Given the description of an element on the screen output the (x, y) to click on. 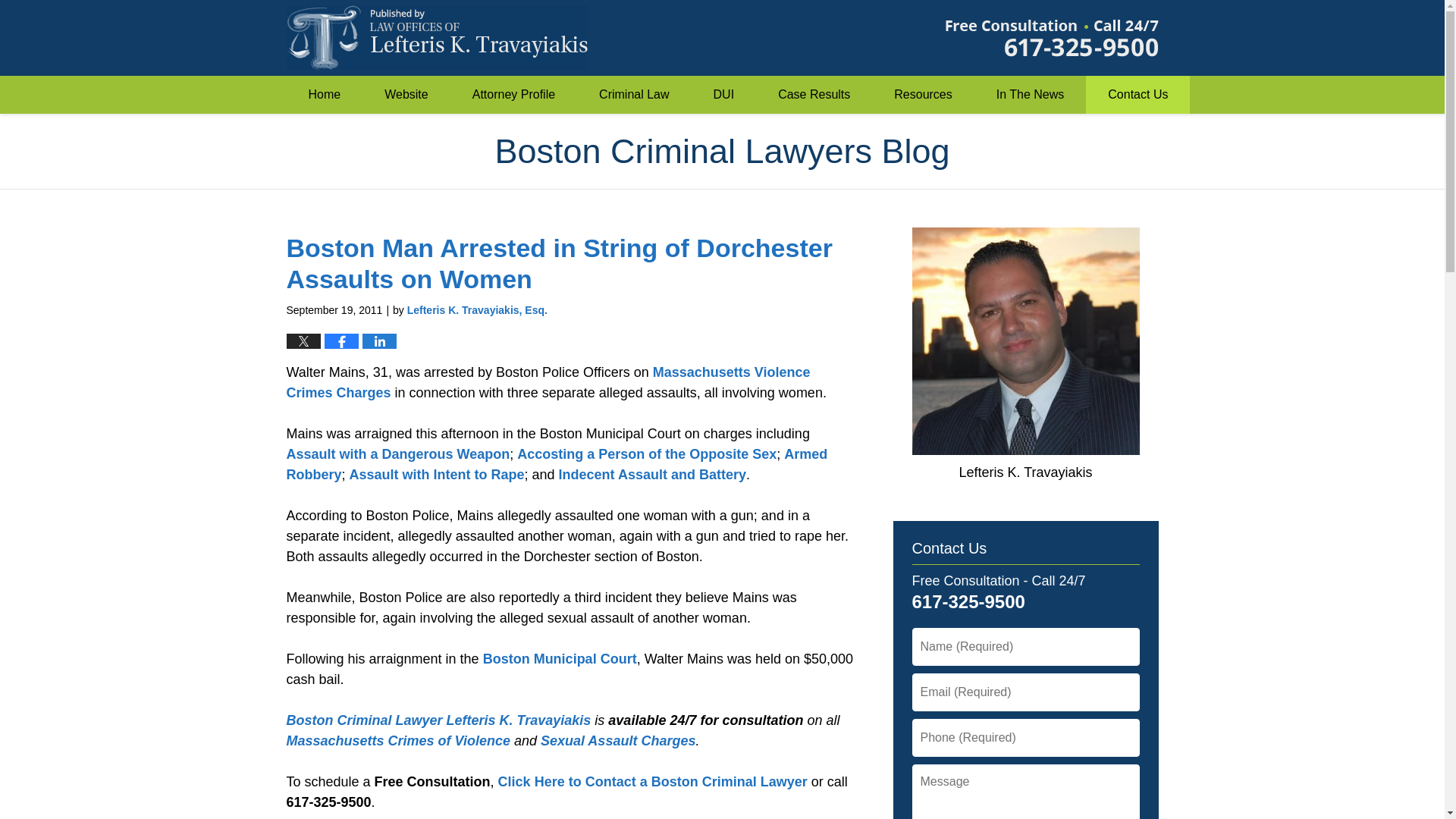
Case Results (813, 94)
Criminal Law (633, 94)
Resources (923, 94)
Assault with a Dangerous Weapon (398, 453)
Sexual Assault Charges (617, 740)
DUI (724, 94)
Indecent Assault and Battery (652, 474)
Armed Robbery (557, 464)
Boston Municipal Court (560, 658)
Massachusetts Violence Crimes Charges (548, 382)
Published By Lefteris K. Travayiakis (1050, 37)
Boston Criminal Lawyers Blog (437, 37)
Click Here to Contact a Boston Criminal Lawyer (652, 781)
In The News (1030, 94)
Accosting a Person of the Opposite Sex (646, 453)
